Given the description of an element on the screen output the (x, y) to click on. 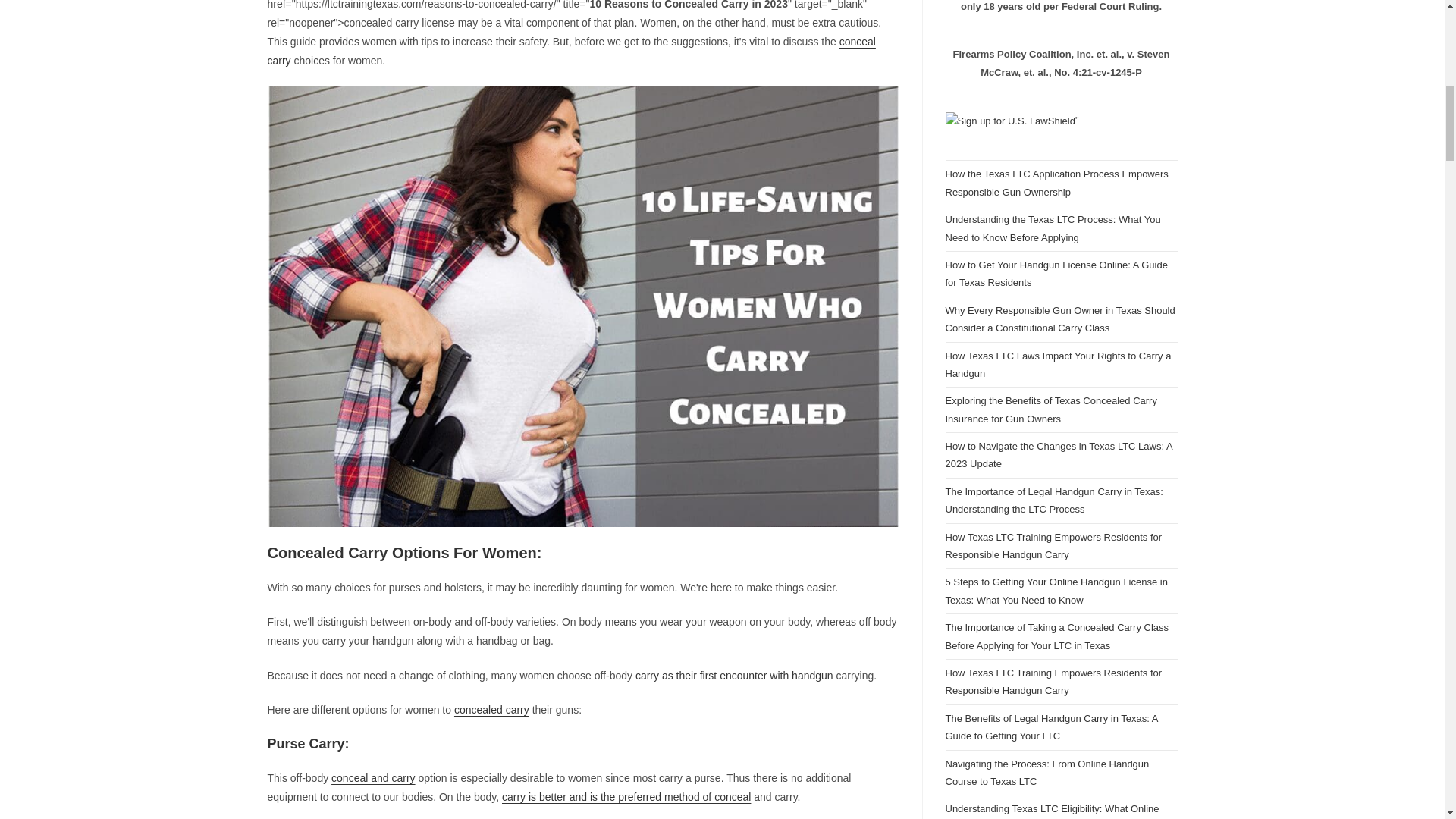
License to Carry Handgun (733, 675)
Texas Concealed Carry (372, 777)
Concealed Carry (626, 797)
What is Texas Concealed Carry, and how does it work? (491, 709)
